Given the description of an element on the screen output the (x, y) to click on. 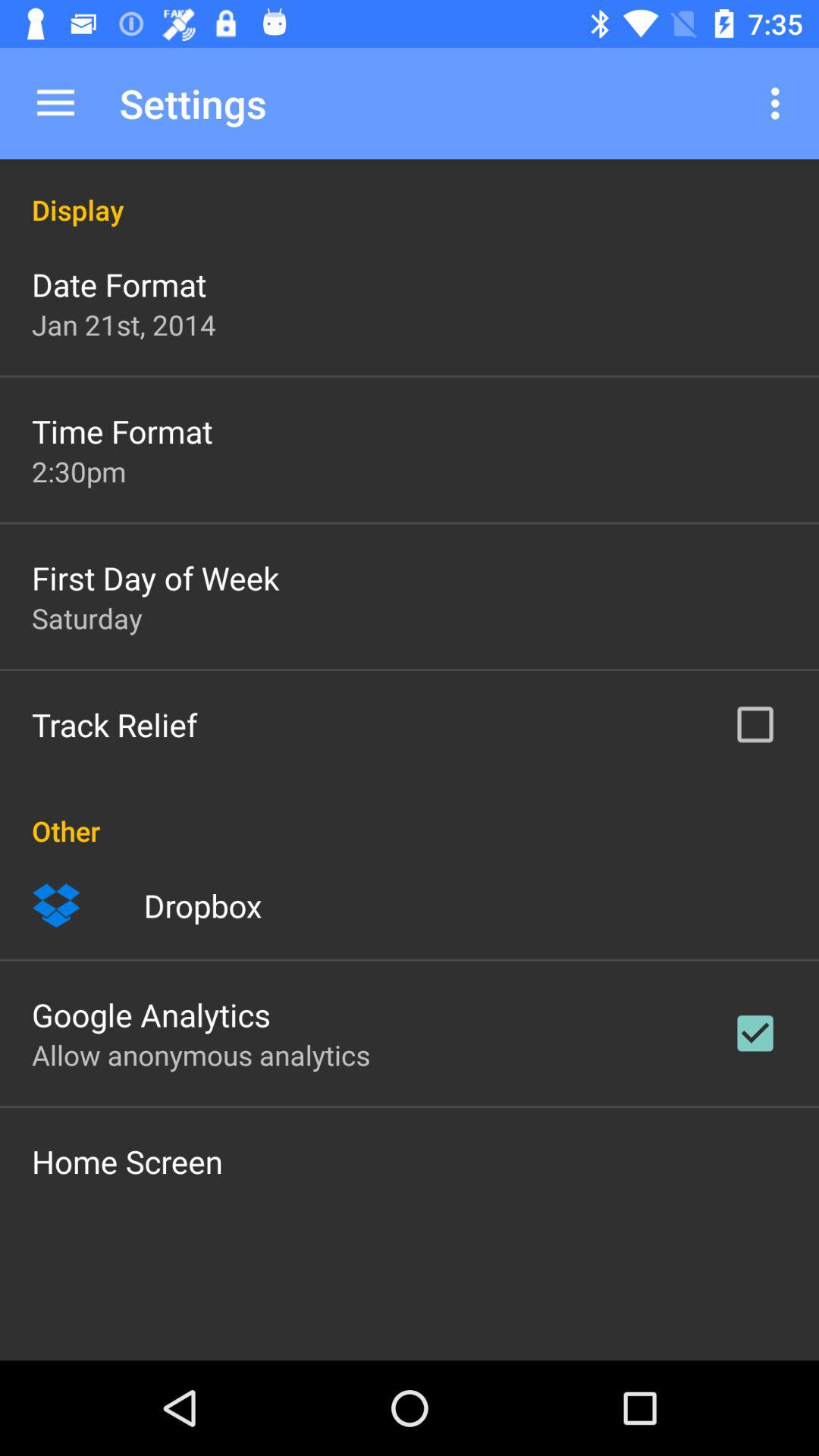
click the other icon (409, 814)
